Given the description of an element on the screen output the (x, y) to click on. 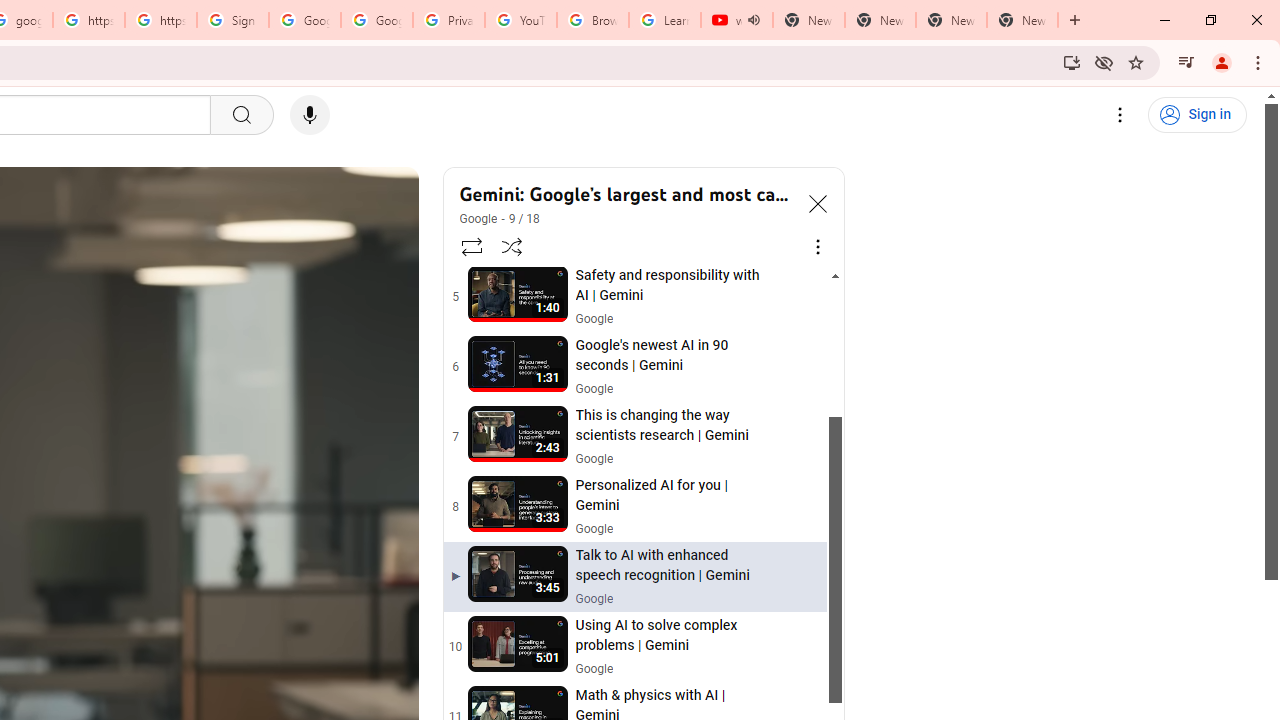
Mute tab (753, 20)
YouTube (520, 20)
Action menu (798, 646)
Sign in - Google Accounts (232, 20)
